Given the description of an element on the screen output the (x, y) to click on. 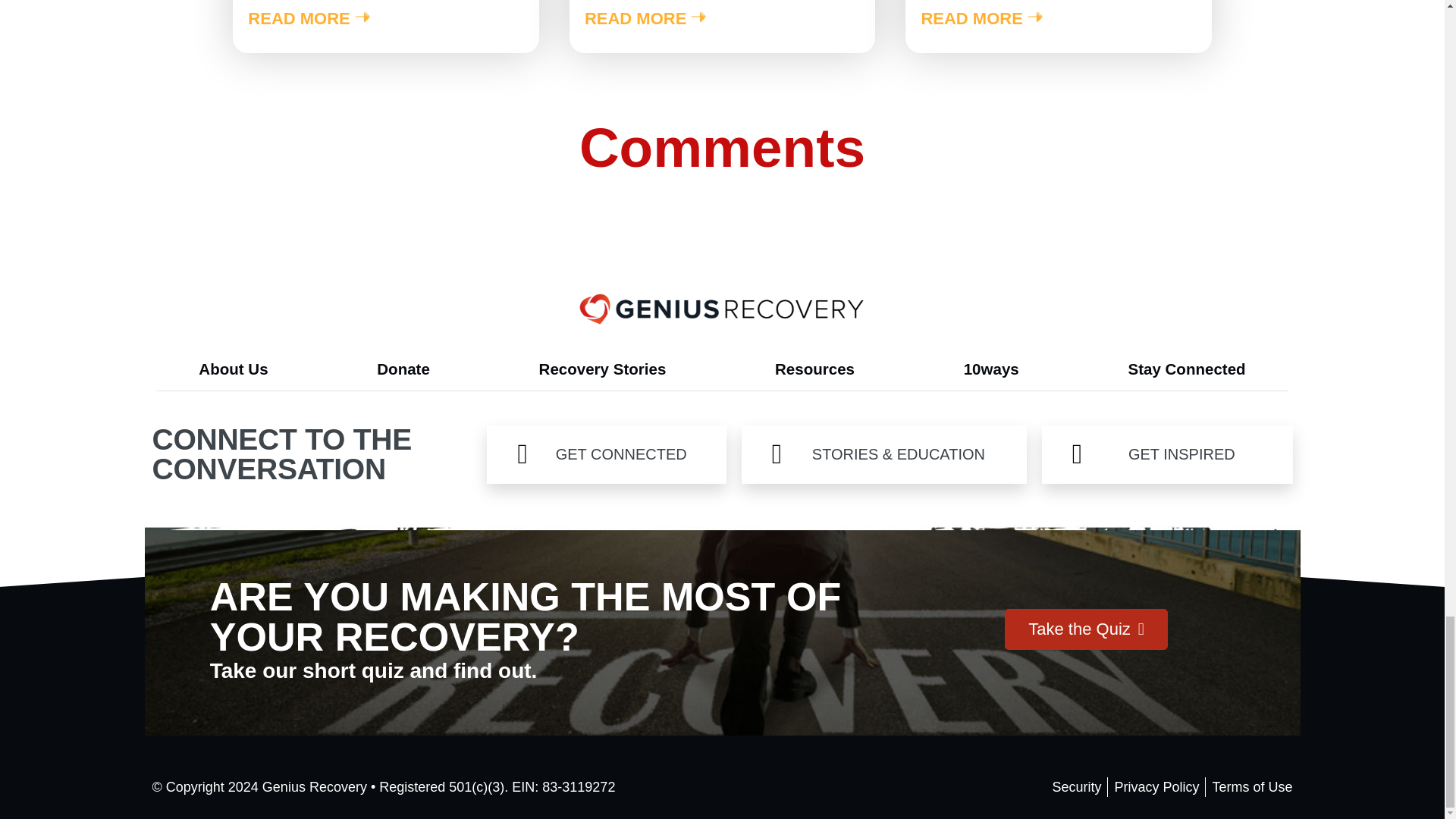
READ MORE (648, 18)
About Us (232, 369)
READ MORE (310, 18)
10ways (991, 369)
Donate (402, 369)
READ MORE (983, 18)
Recovery Stories (602, 369)
Stay Connected (1187, 369)
Resources (814, 369)
